Given the description of an element on the screen output the (x, y) to click on. 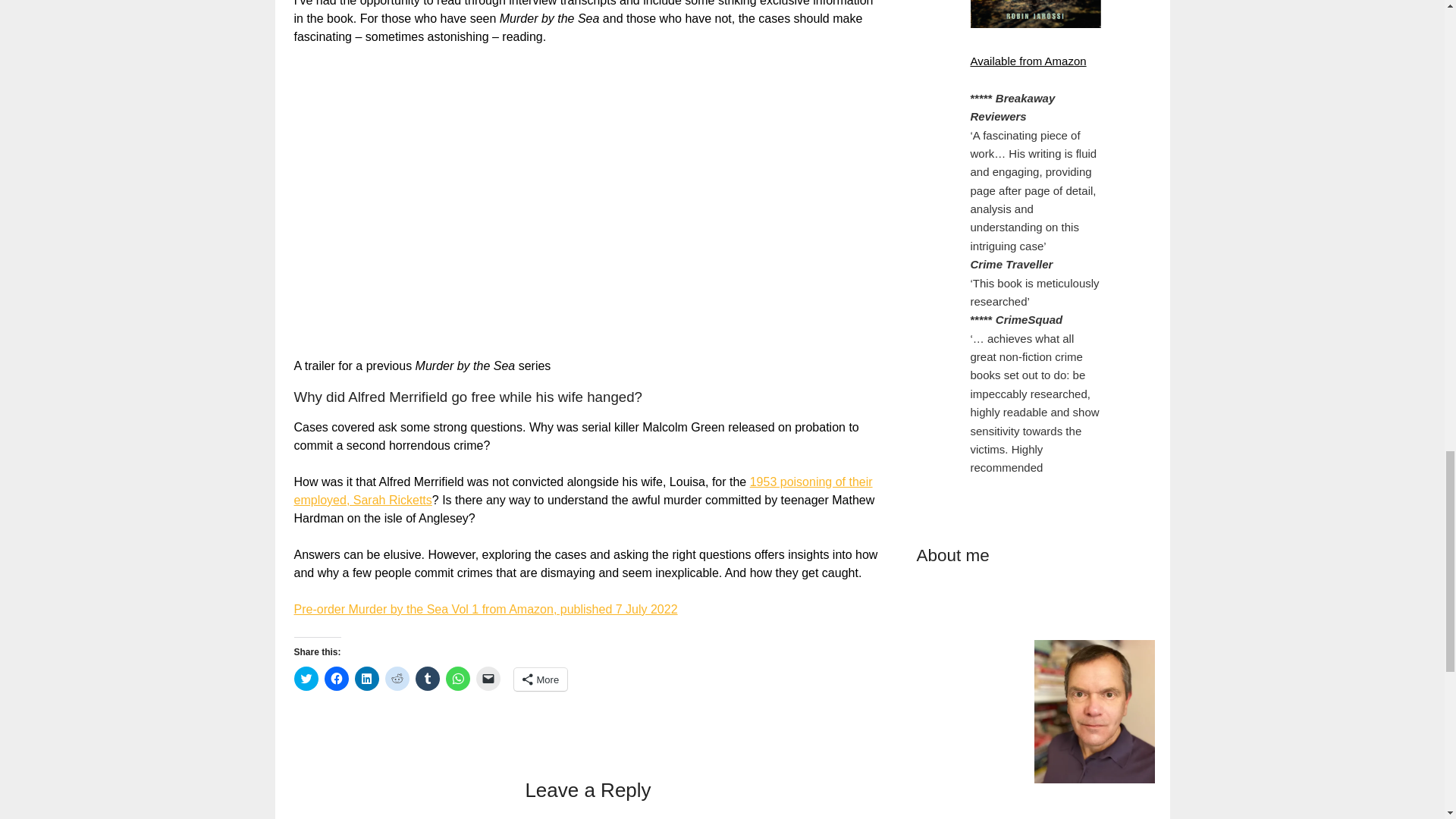
More (726, 188)
View all posts in True crime books (775, 250)
View all posts in Uncategorized (870, 250)
True crime books (775, 250)
Murder by the Sea: The Mochries (662, 355)
Murder by the Sea (670, 250)
View all posts in Murder by the Sea (670, 250)
Comment Form (780, 692)
Uncategorized (870, 250)
